Given the description of an element on the screen output the (x, y) to click on. 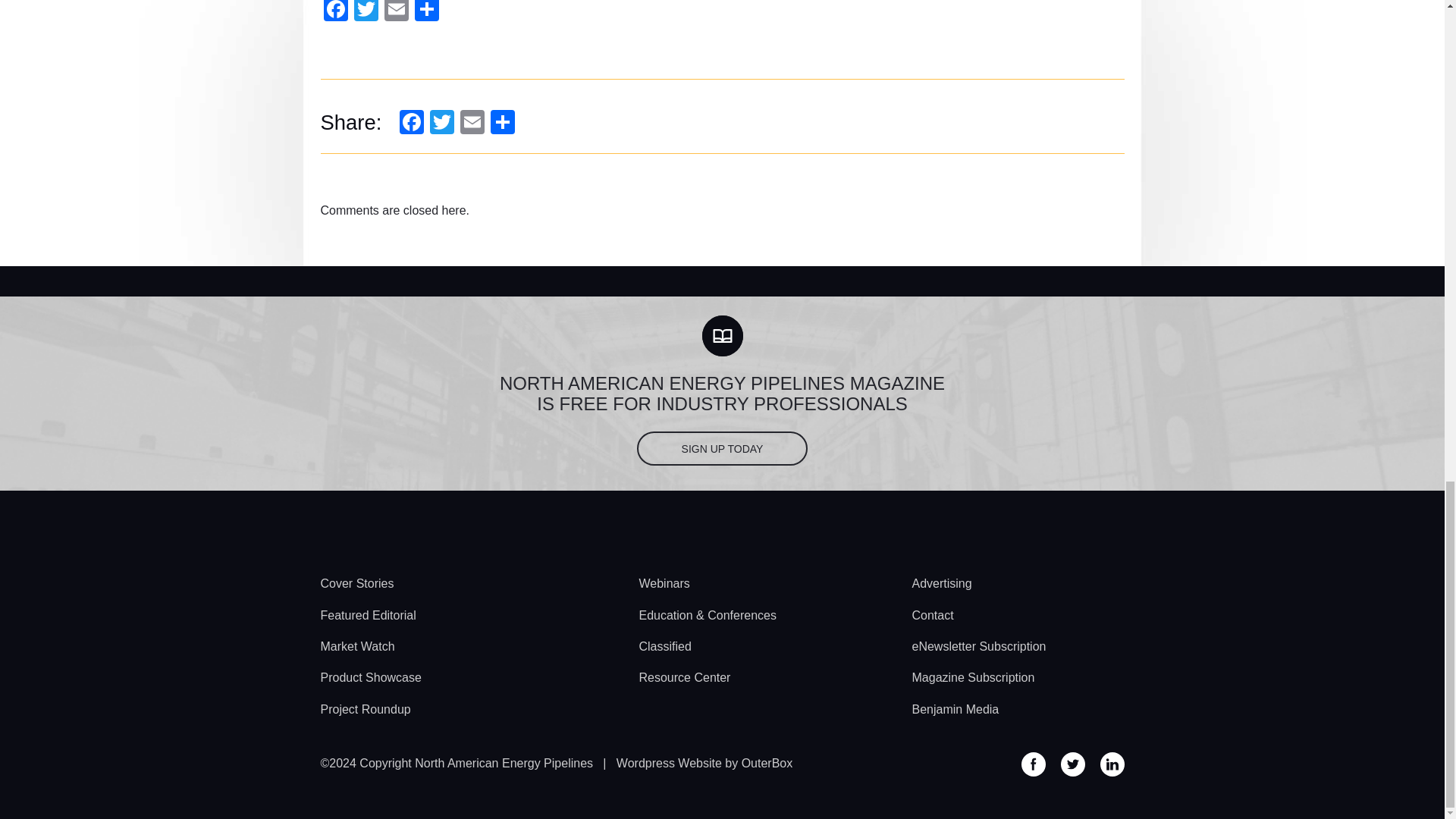
Facebook (335, 10)
Email (395, 10)
Twitter (441, 121)
Facebook (335, 10)
Outerbox (703, 762)
Facebook (411, 121)
Email (395, 10)
Twitter (441, 121)
Share (425, 10)
Facebook (411, 121)
SIGN UP TODAY (722, 448)
Email (472, 121)
Twitter (365, 10)
Share (502, 121)
Email (472, 121)
